Given the description of an element on the screen output the (x, y) to click on. 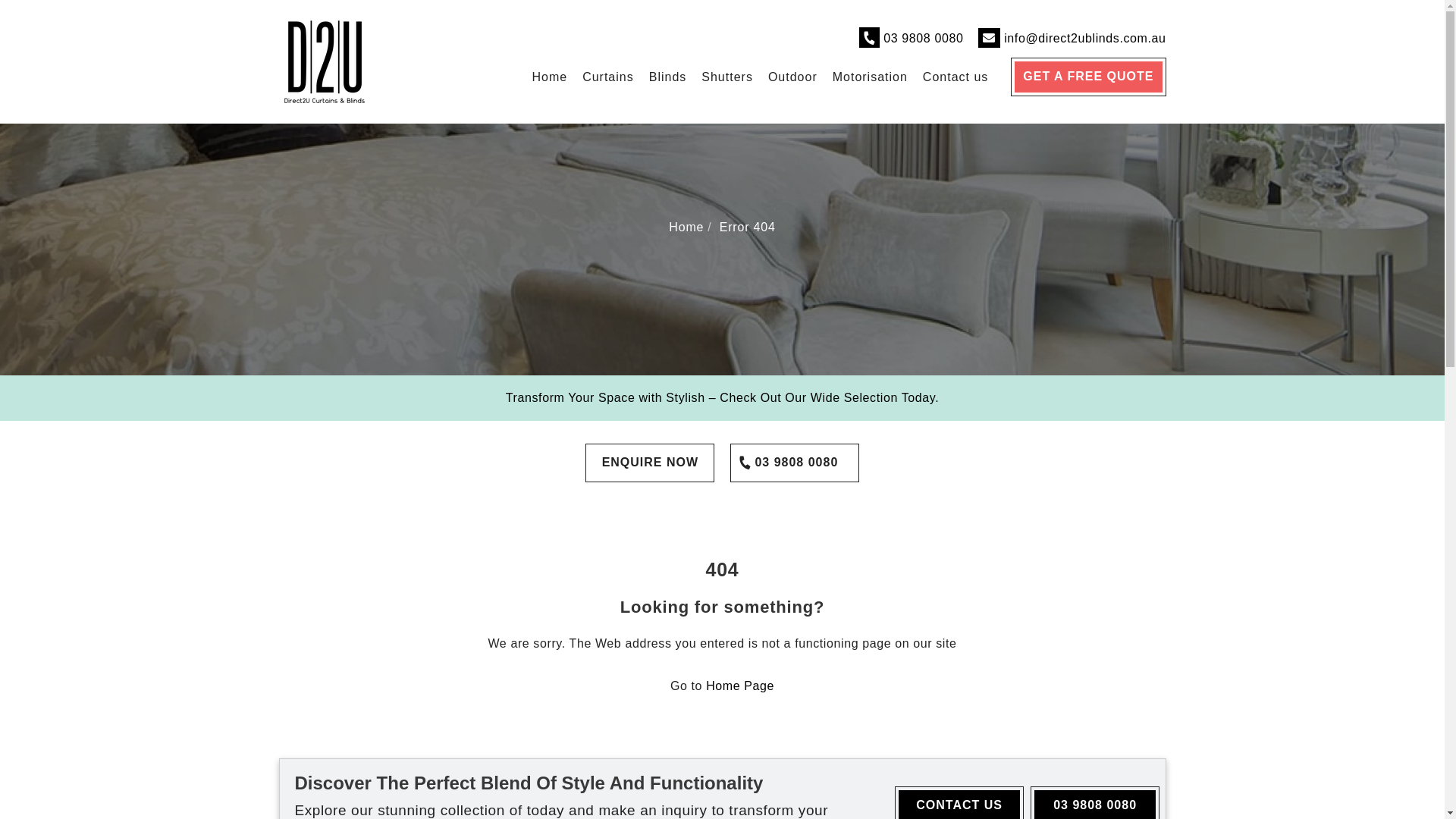
Home Page Element type: text (740, 685)
Motorisation Element type: text (869, 77)
Shutters Element type: text (726, 77)
03 9808 0080 Element type: text (923, 38)
info@direct2ublinds.com.au Element type: text (1084, 38)
Home Element type: text (549, 77)
Blinds Element type: text (667, 77)
Home Element type: text (685, 226)
ENQUIRE NOW Element type: text (649, 462)
Contact us Element type: text (955, 77)
GET A FREE QUOTE Element type: text (1087, 76)
Curtains Element type: text (607, 77)
03 9808 0080 Element type: text (794, 462)
Outdoor Element type: text (792, 77)
